Given the description of an element on the screen output the (x, y) to click on. 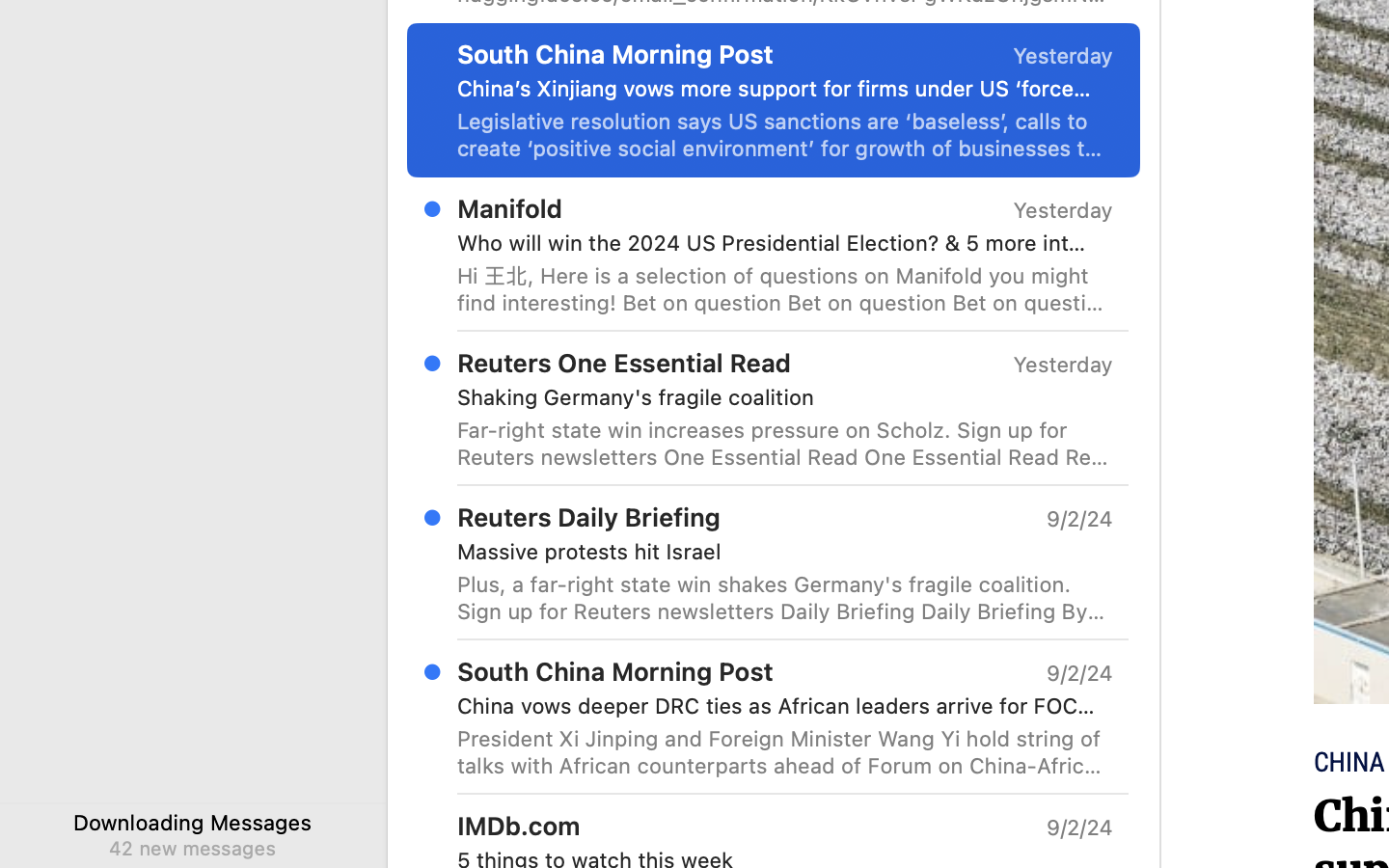
42 new messages Element type: AXStaticText (191, 847)
South China Morning Post Element type: AXStaticText (615, 53)
Massive protests hit Israel Element type: AXStaticText (777, 551)
IMDb.com Element type: AXStaticText (518, 825)
Who will win the 2024 US Presidential Election? & 5 more interesting markets on Manifold Element type: AXStaticText (777, 242)
